Given the description of an element on the screen output the (x, y) to click on. 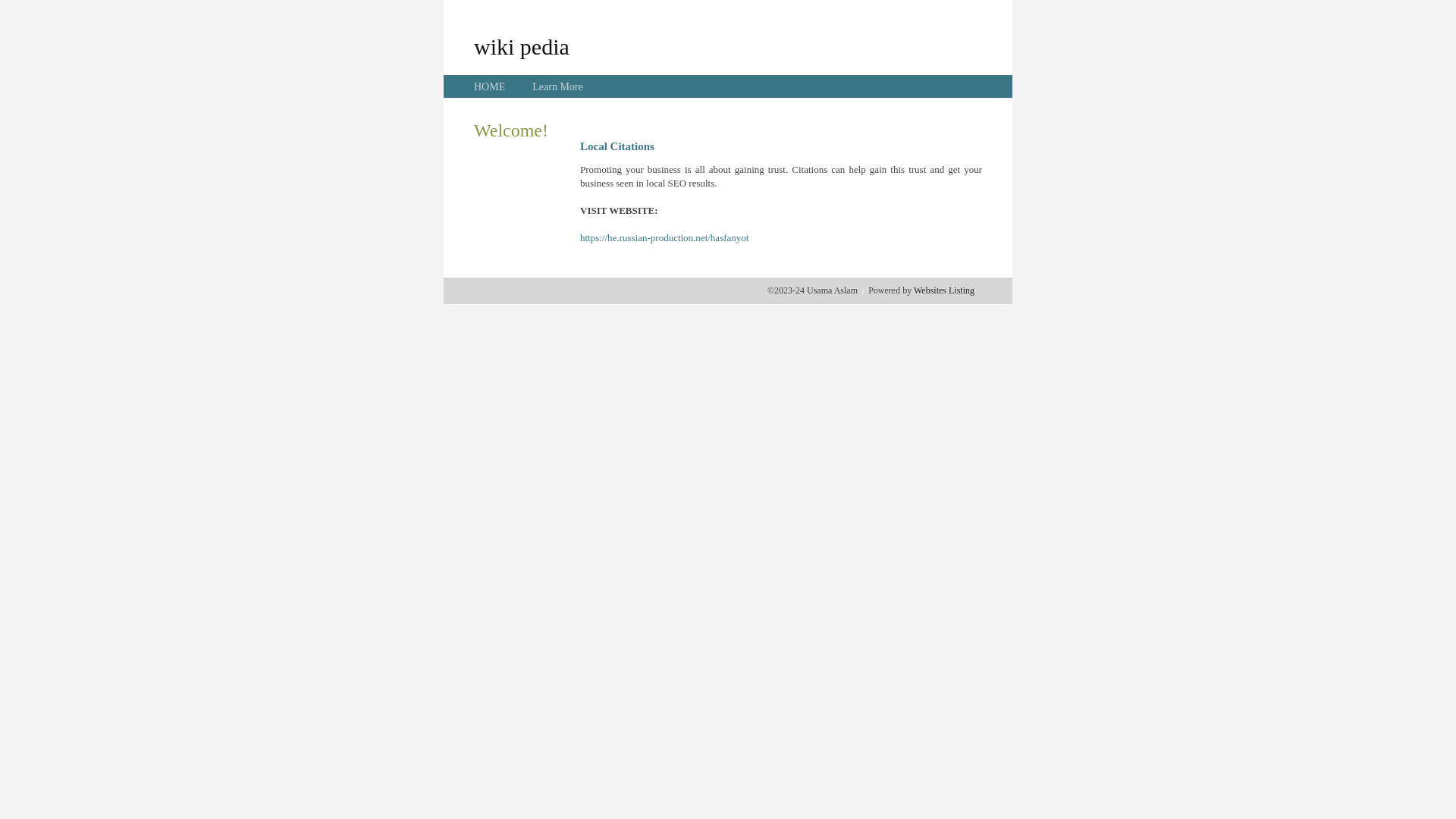
Learn More Element type: text (557, 86)
HOME Element type: text (489, 86)
wiki pedia Element type: text (521, 46)
Websites Listing Element type: text (943, 290)
https://he.russian-production.net/hasfanyot Element type: text (664, 237)
